Given the description of an element on the screen output the (x, y) to click on. 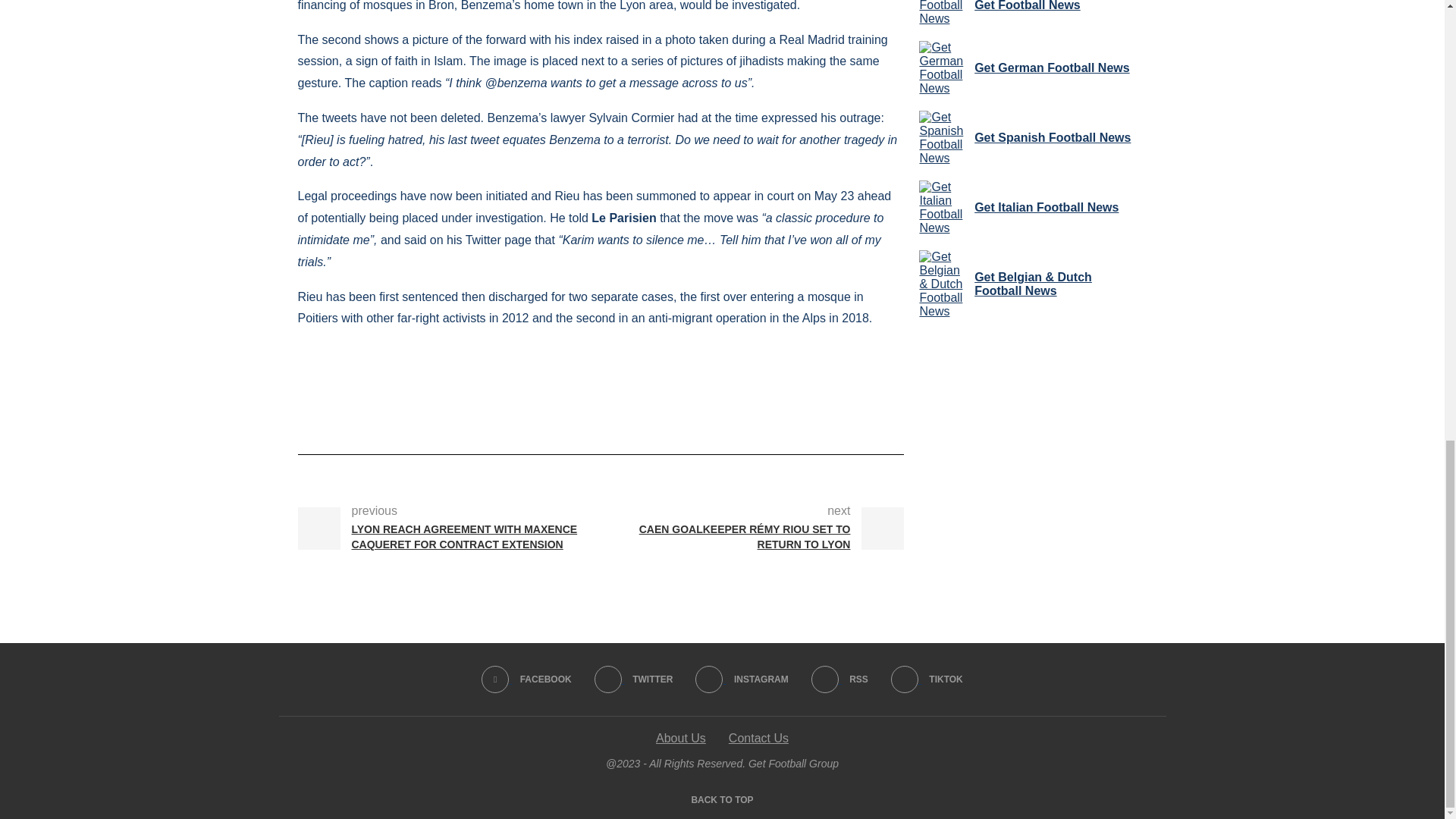
Get Spanish Football News (943, 137)
Get Football News (943, 12)
Get Italian Football News (943, 207)
Get German Football News (943, 67)
